Given the description of an element on the screen output the (x, y) to click on. 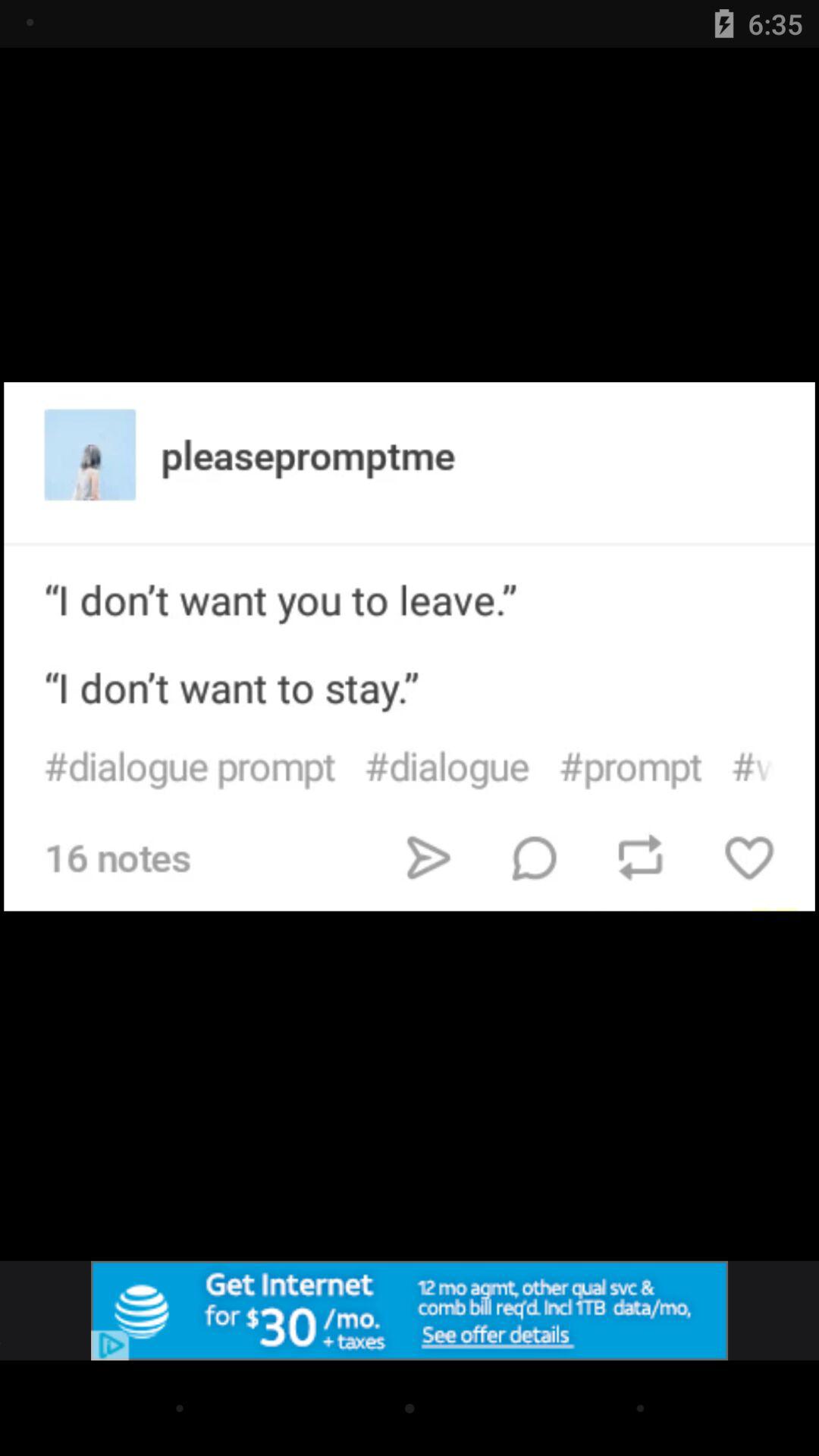
advertisement page (409, 1310)
